Given the description of an element on the screen output the (x, y) to click on. 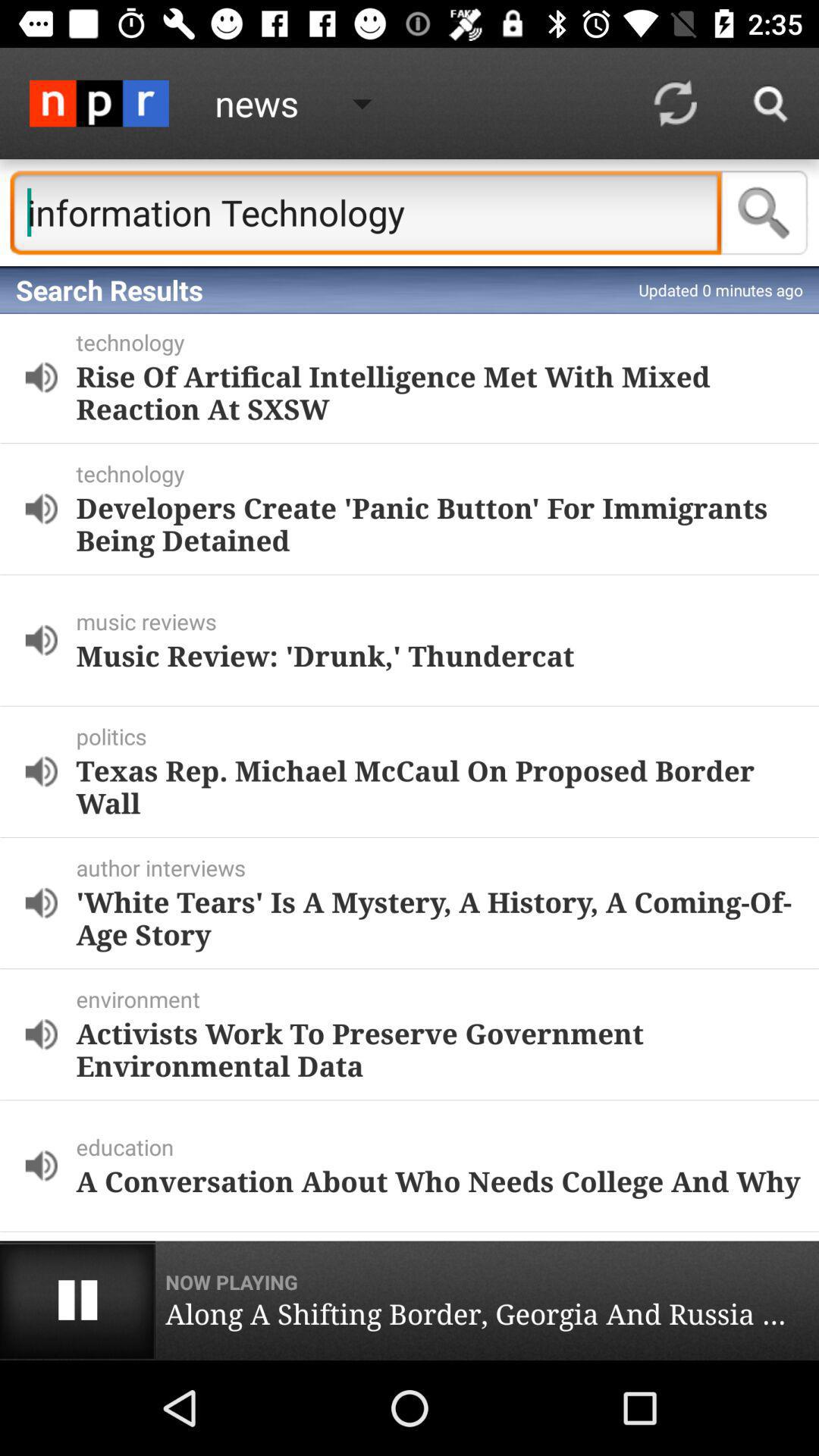
open the item above a conversation about icon (444, 1146)
